Given the description of an element on the screen output the (x, y) to click on. 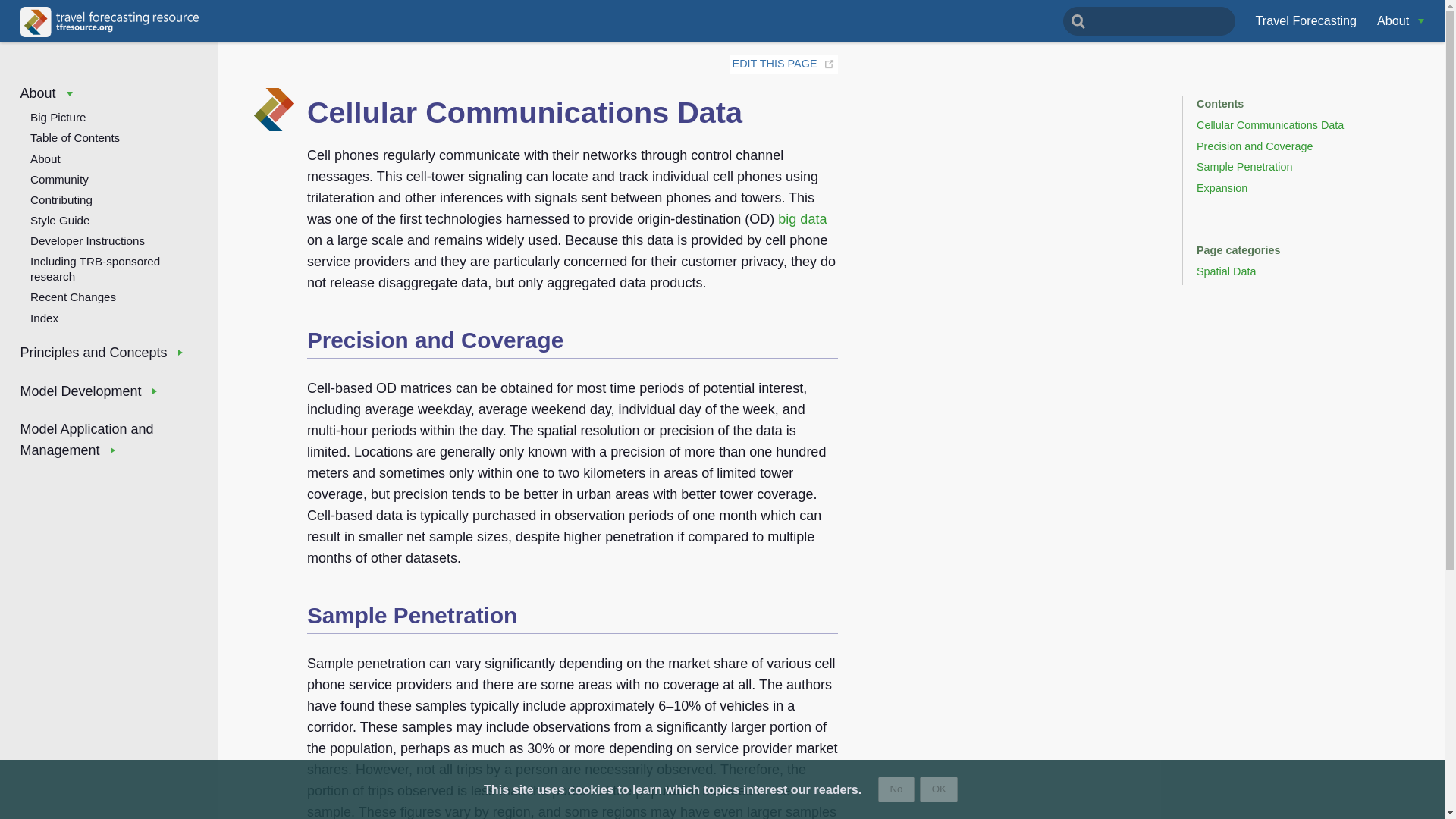
Table of Contents (108, 135)
Style Guide (108, 218)
Community (108, 176)
Big Picture (108, 115)
About (1400, 20)
Precision and Coverage (1254, 146)
Index (108, 315)
Expansion (1221, 187)
EDIT THIS PAGE (774, 63)
Contributing (108, 198)
About (108, 156)
big data (802, 218)
OK (939, 788)
Recent Changes (108, 294)
Developer Instructions (108, 239)
